Given the description of an element on the screen output the (x, y) to click on. 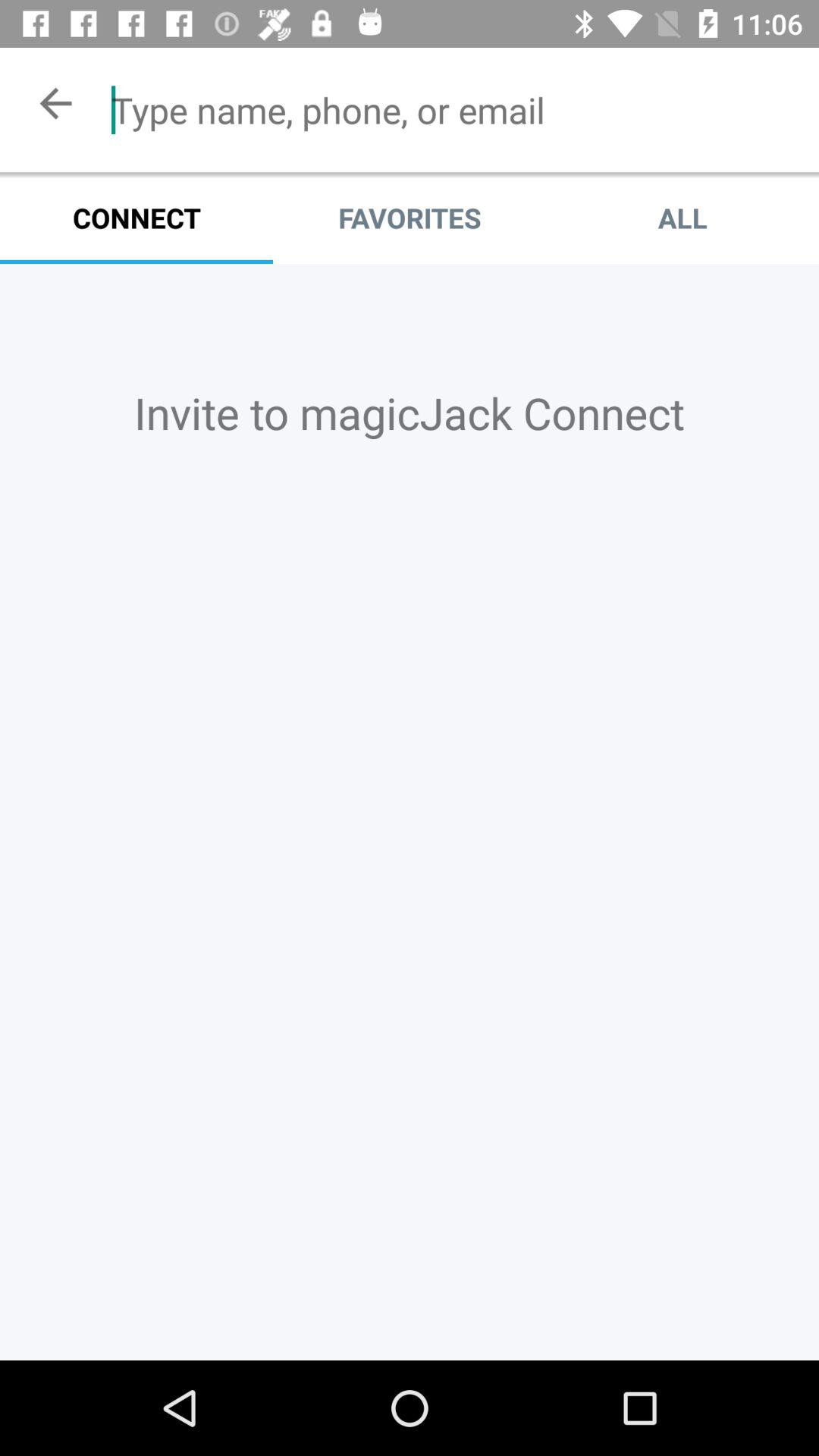
turn on item above connect (55, 103)
